Given the description of an element on the screen output the (x, y) to click on. 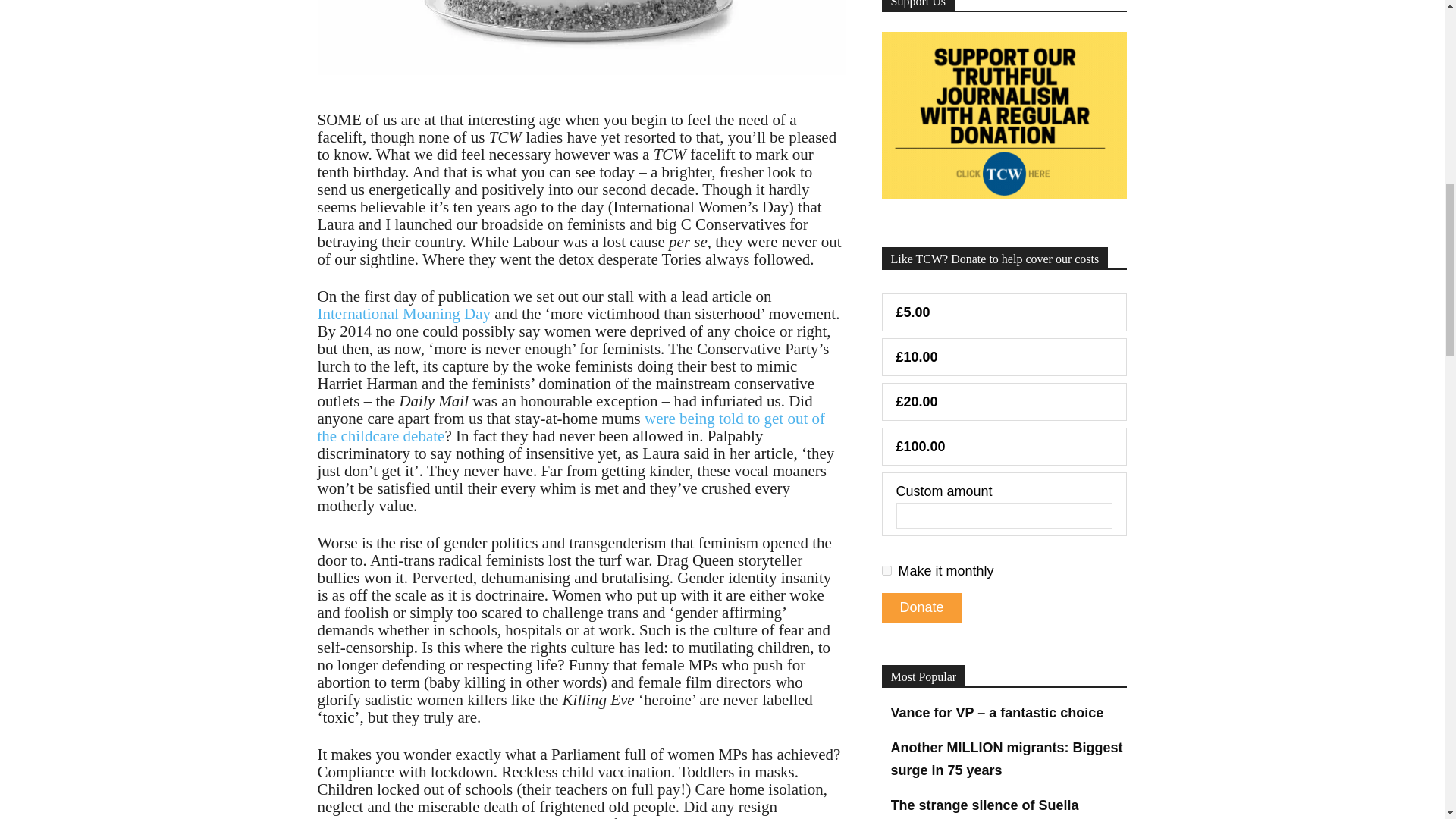
month (885, 570)
